Given the description of an element on the screen output the (x, y) to click on. 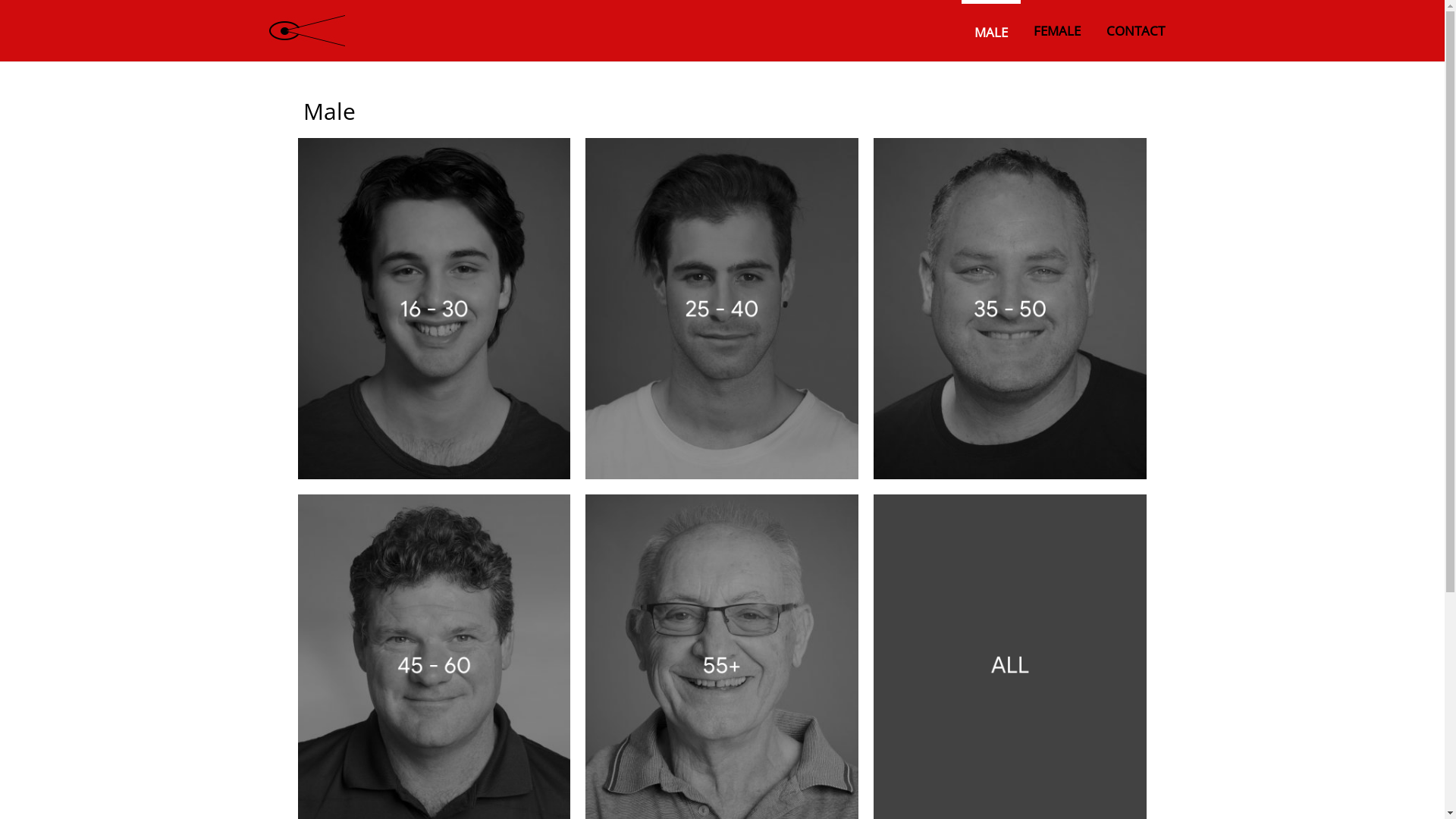
CONTACT Element type: text (1135, 30)
FEMALE Element type: text (1056, 30)
MALE Element type: text (990, 32)
